Given the description of an element on the screen output the (x, y) to click on. 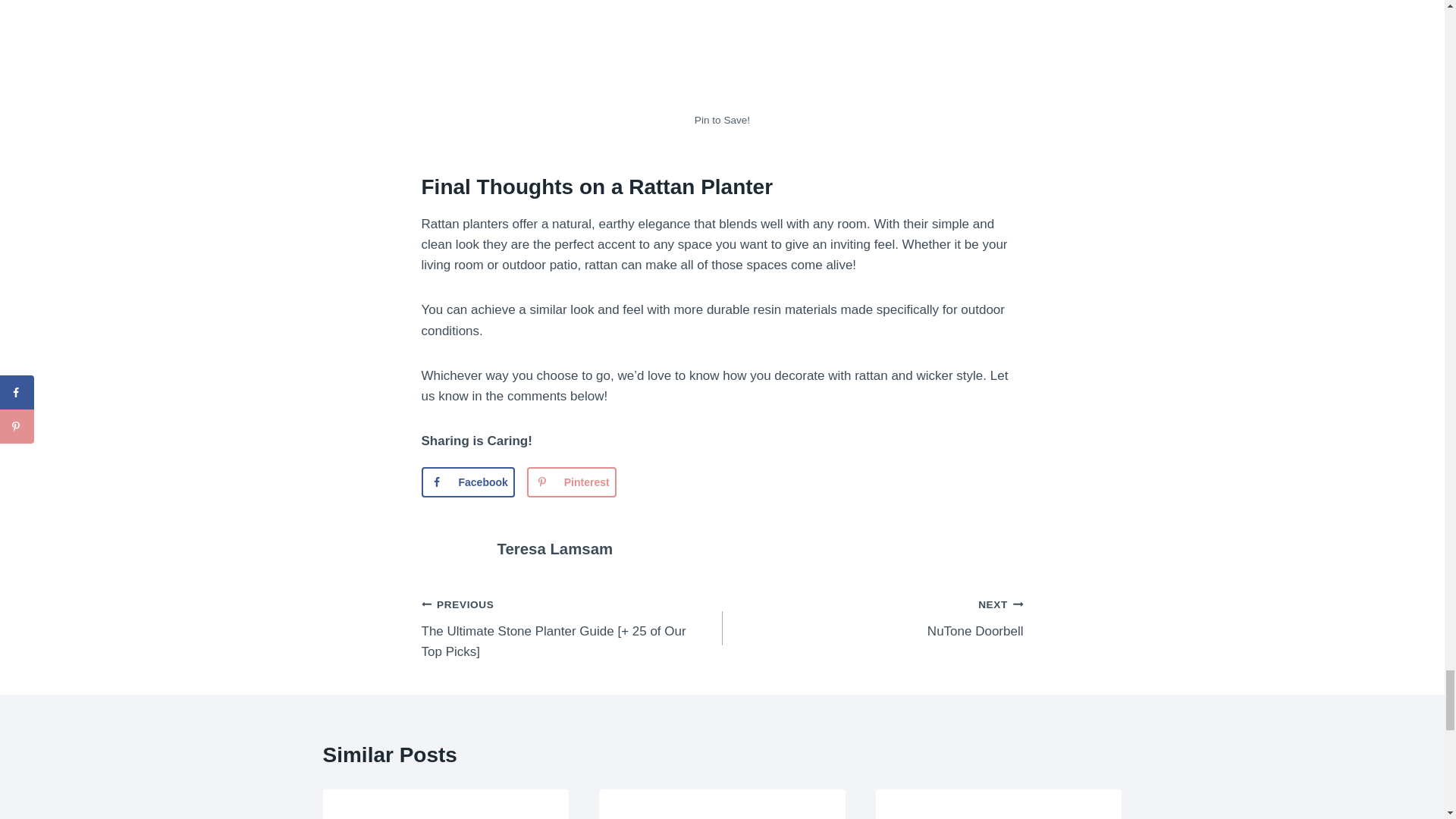
Save to Pinterest (571, 481)
Share on Facebook (468, 481)
Posts by Teresa Lamsam (554, 548)
